Given the description of an element on the screen output the (x, y) to click on. 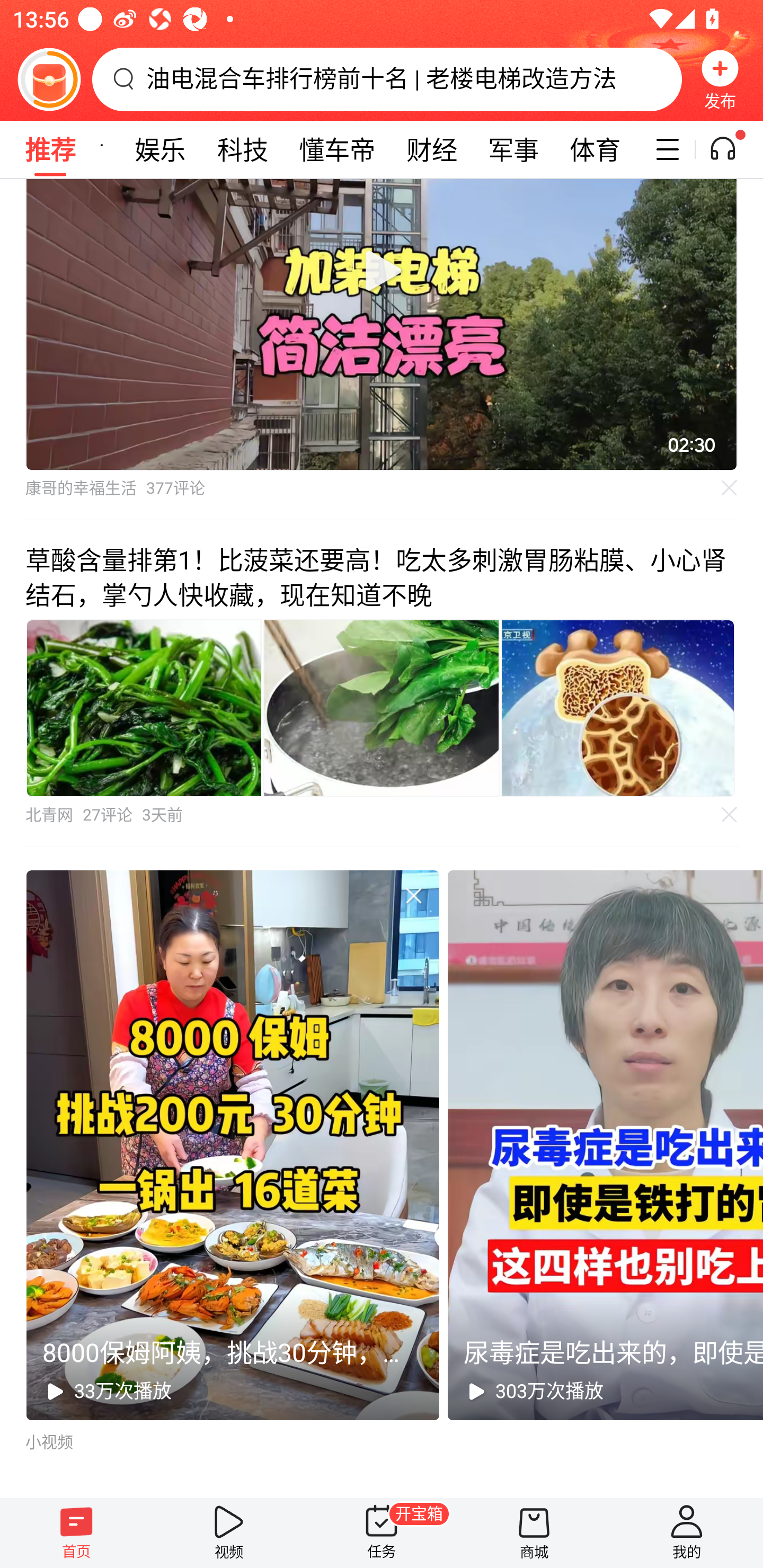
阅读赚金币 (48, 79)
油电混合车排行榜前十名 | 老楼电梯改造方法 搜索框，油电混合车排行榜前十名 | 老楼电梯改造方法 (387, 79)
发布 发布，按钮 (720, 78)
推荐 (49, 149)
娱乐 (160, 149)
科技 (242, 149)
懂车帝 (336, 149)
财经 (431, 149)
军事 (513, 149)
体育 (594, 149)
听一听开关 (732, 149)
播放视频 视频播放器，双击屏幕打开播放控制 (381, 324)
播放视频 (381, 270)
不感兴趣 (729, 487)
内容图片 (143, 708)
内容图片 (381, 708)
内容图片 (617, 708)
不感兴趣 (729, 815)
不感兴趣 (413, 894)
首页 (76, 1532)
视频 (228, 1532)
任务 开宝箱 (381, 1532)
商城 (533, 1532)
我的 (686, 1532)
